Given the description of an element on the screen output the (x, y) to click on. 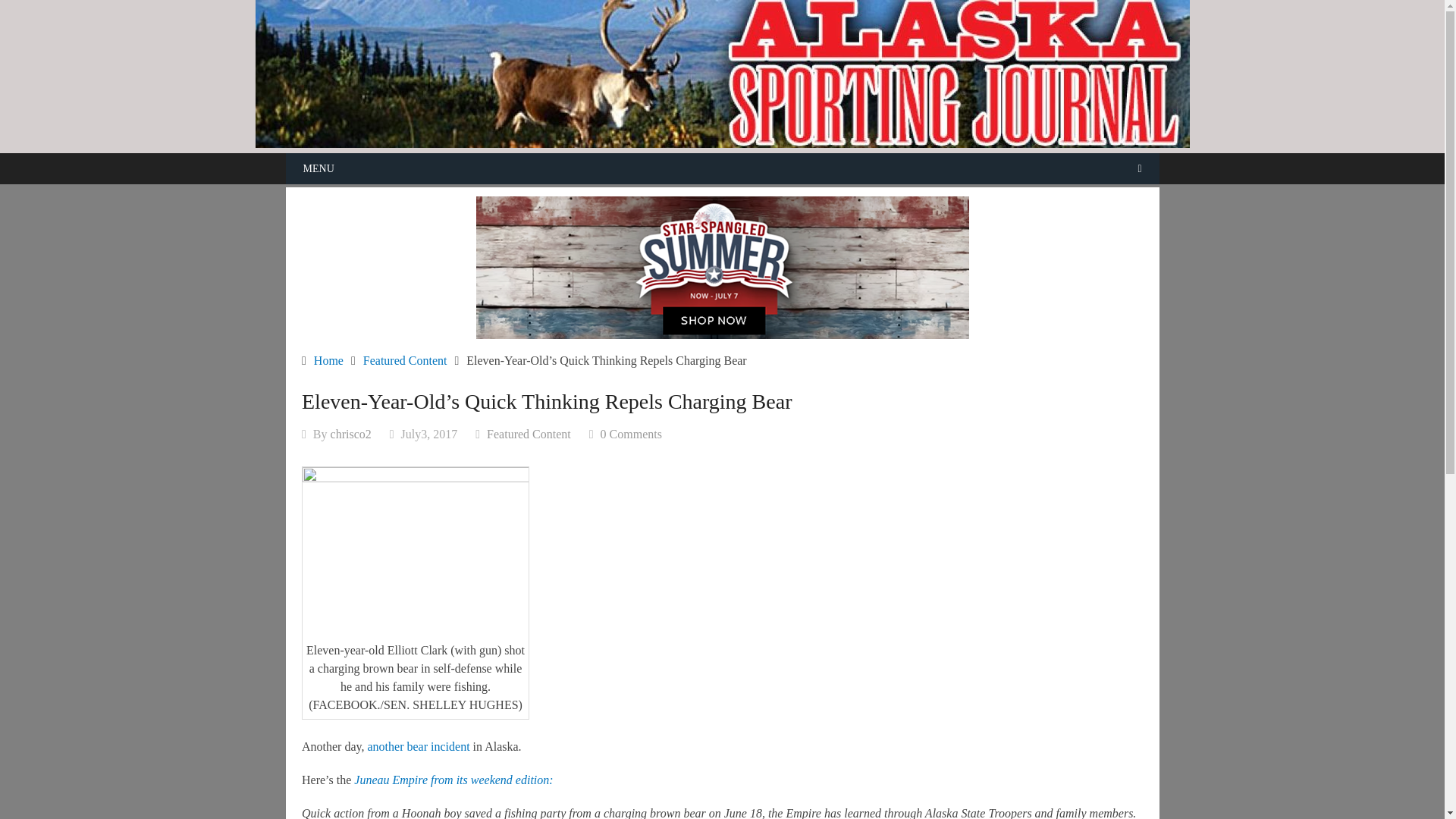
Featured Content (528, 433)
Posts by chrisco2 (350, 433)
MENU (721, 168)
Home (328, 359)
Juneau Empire from its weekend edition: (453, 779)
chrisco2 (350, 433)
0 Comments (630, 433)
bear incident (437, 746)
Featured Content (404, 359)
another (386, 746)
